Given the description of an element on the screen output the (x, y) to click on. 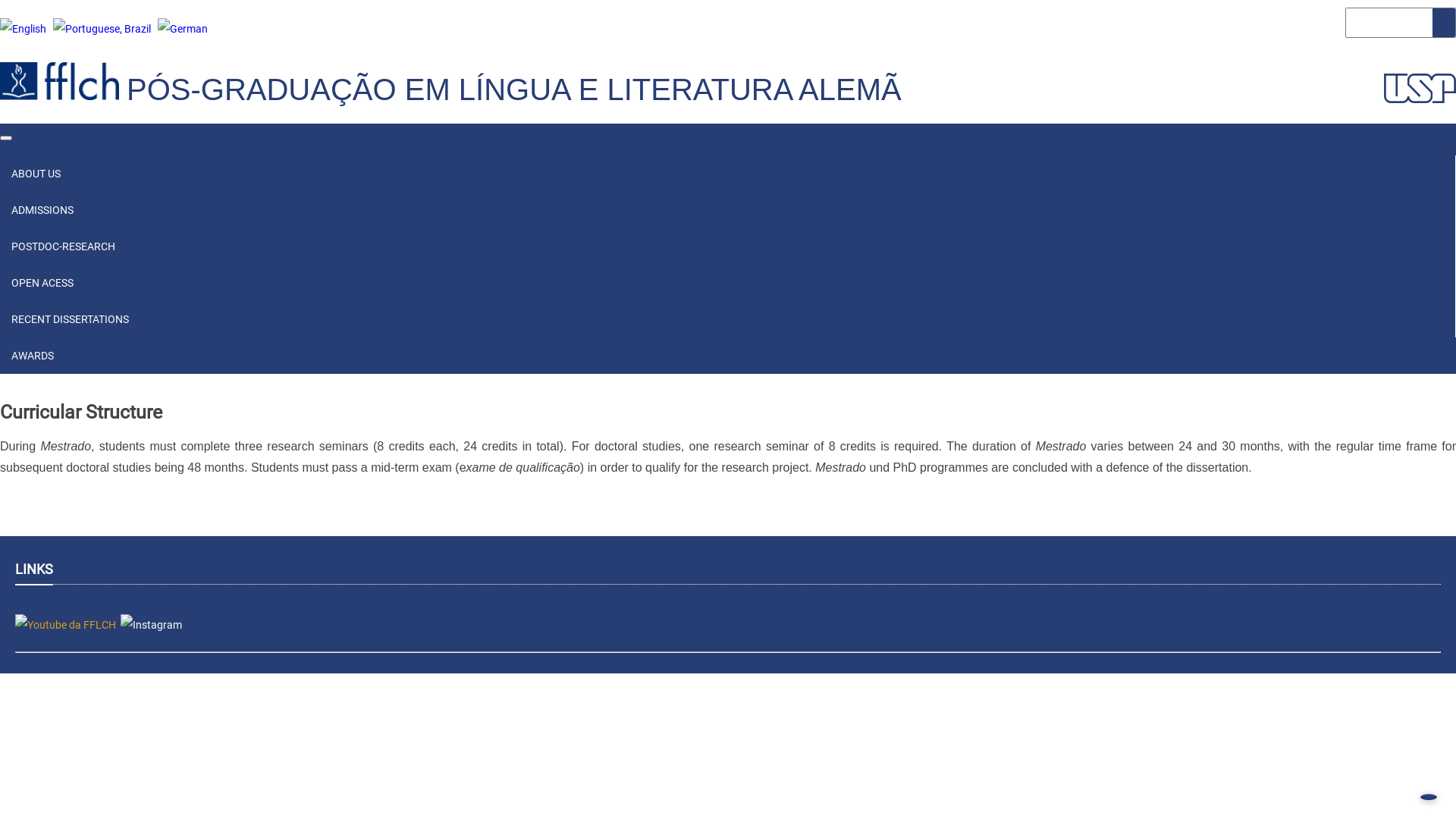
Portuguese, Brazil Element type: hover (101, 28)
ABOUT US Element type: text (36, 173)
Search Element type: text (1443, 22)
POSTDOC-RESEARCH Element type: text (727, 246)
German Element type: hover (182, 28)
ADMISSIONS Element type: text (727, 209)
  Element type: text (129, 67)
Back to Top Element type: hover (1428, 796)
OPEN ACESS Element type: text (42, 282)
RECENT DISSERTATIONS Element type: text (727, 319)
English Element type: hover (23, 28)
Skip to main content Element type: text (0, 0)
